Given the description of an element on the screen output the (x, y) to click on. 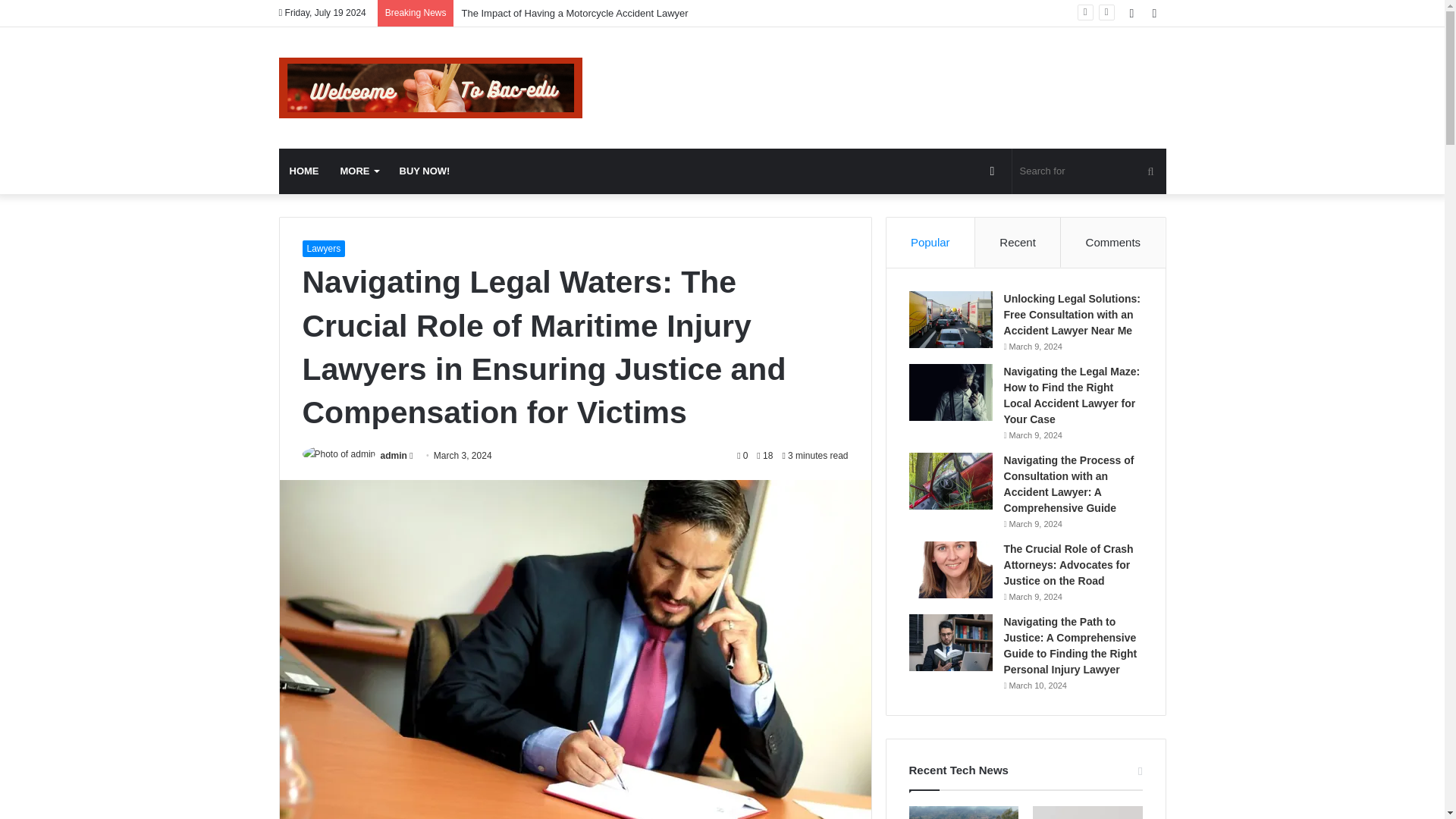
admin (393, 455)
HOME (304, 171)
BUY NOW! (424, 171)
Buy now! (424, 171)
MORE (358, 171)
Search for (1088, 171)
admin (393, 455)
The Impact of Having a Motorcycle Accident Lawyer (574, 12)
bac-edu.com (430, 87)
Lawyers (323, 248)
